Given the description of an element on the screen output the (x, y) to click on. 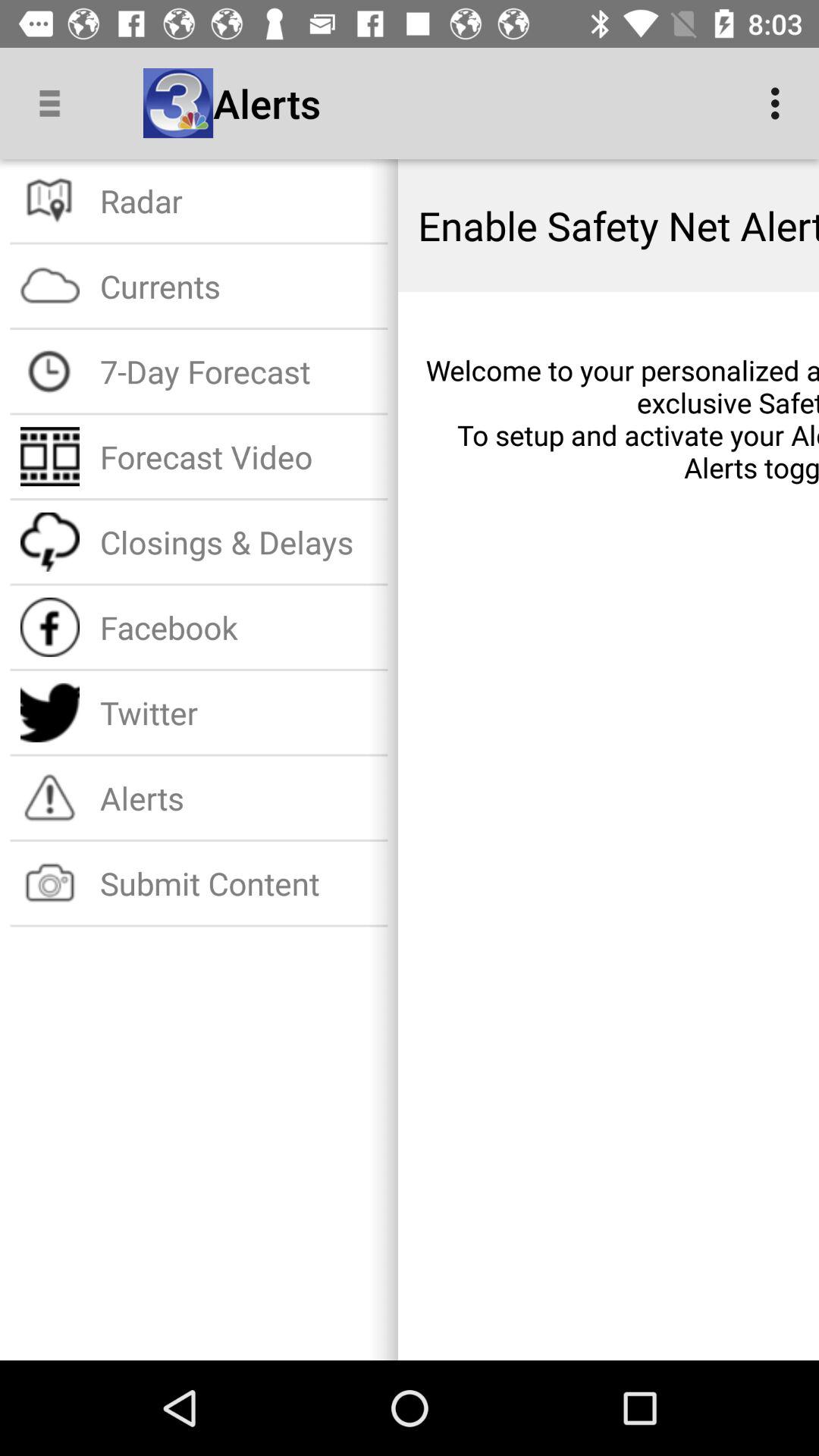
click icon to the left of welcome to your (238, 370)
